Given the description of an element on the screen output the (x, y) to click on. 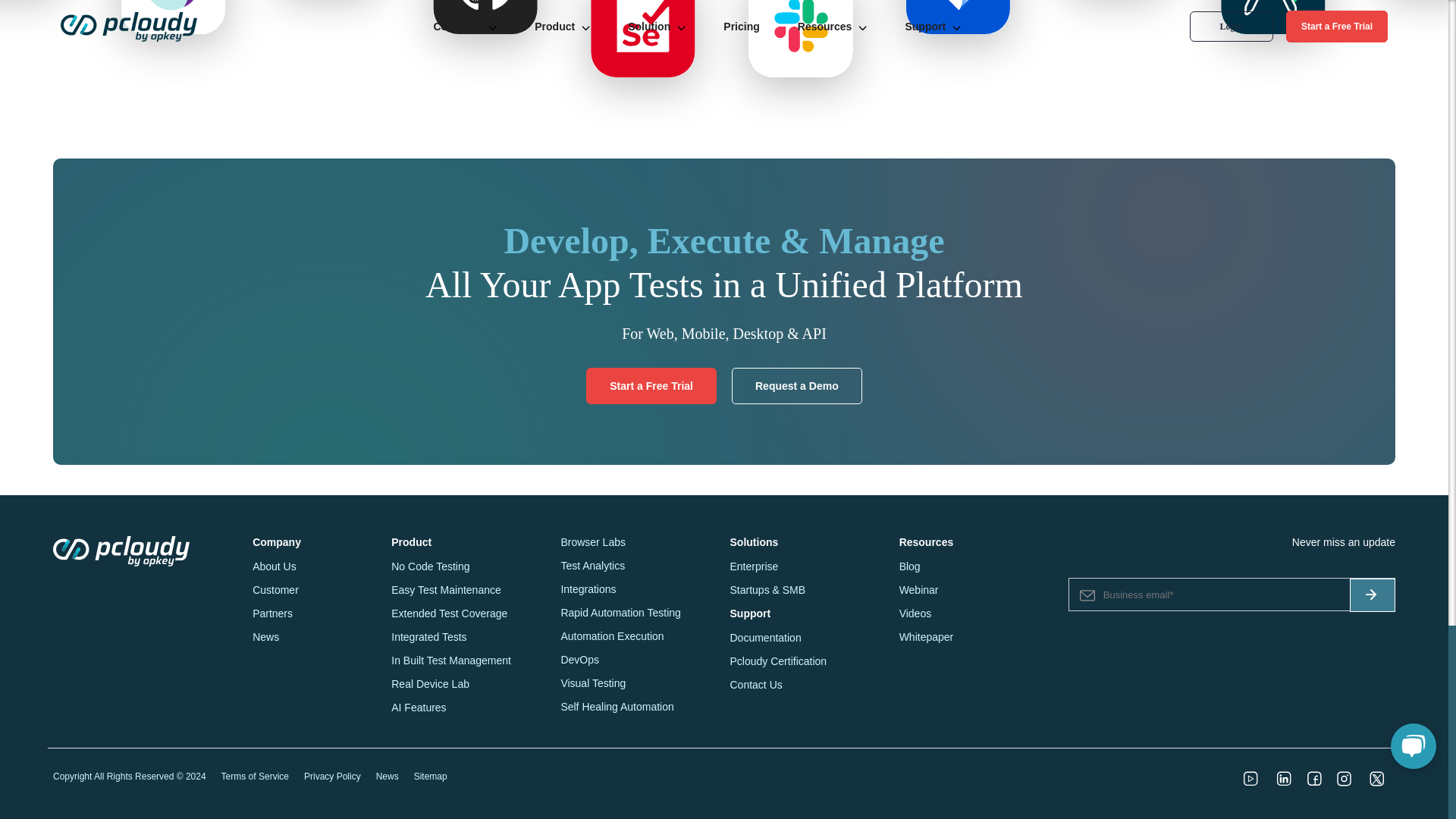
Subscribe (1371, 594)
